Given the description of an element on the screen output the (x, y) to click on. 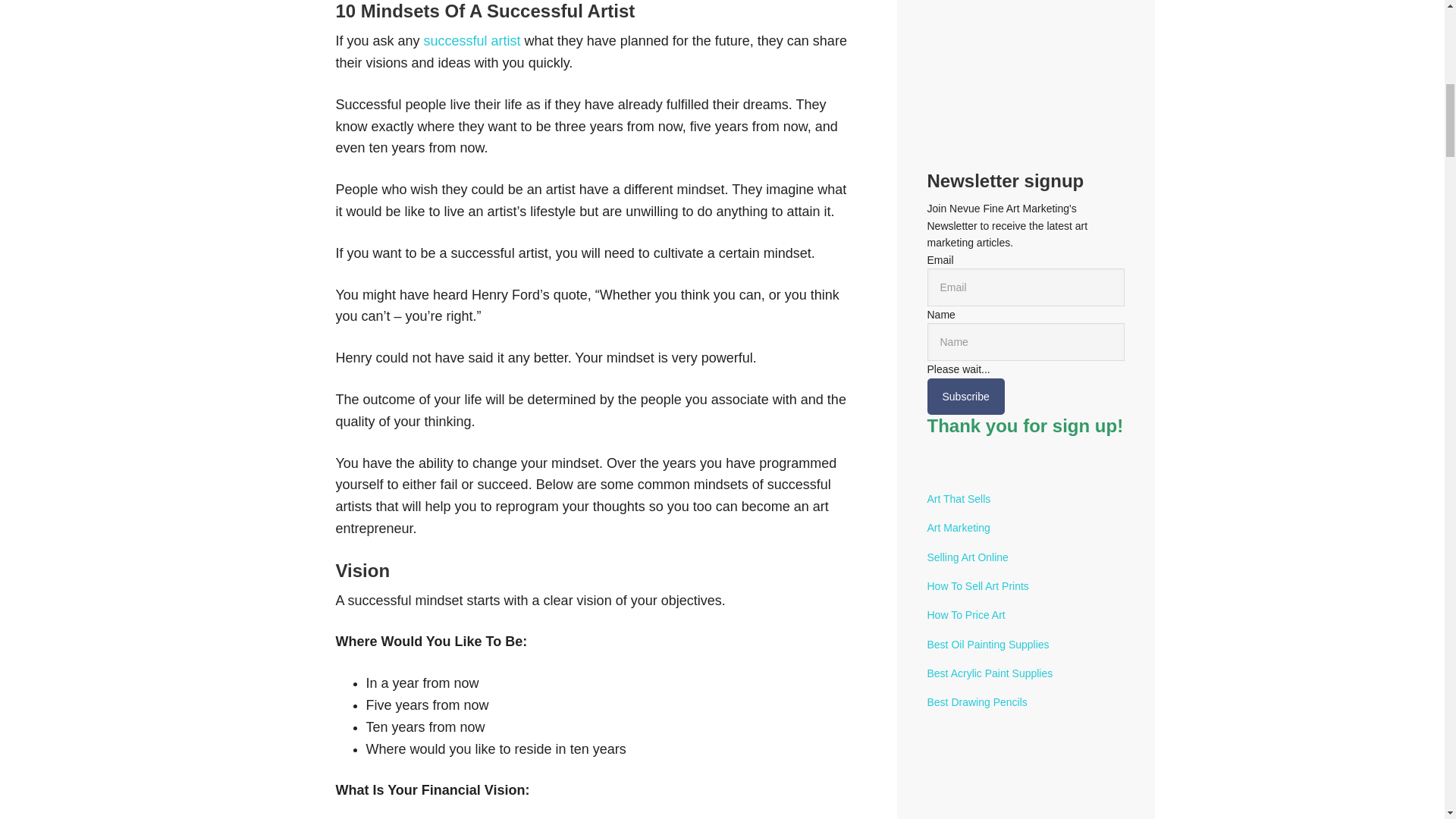
successful artist (473, 40)
